Given the description of an element on the screen output the (x, y) to click on. 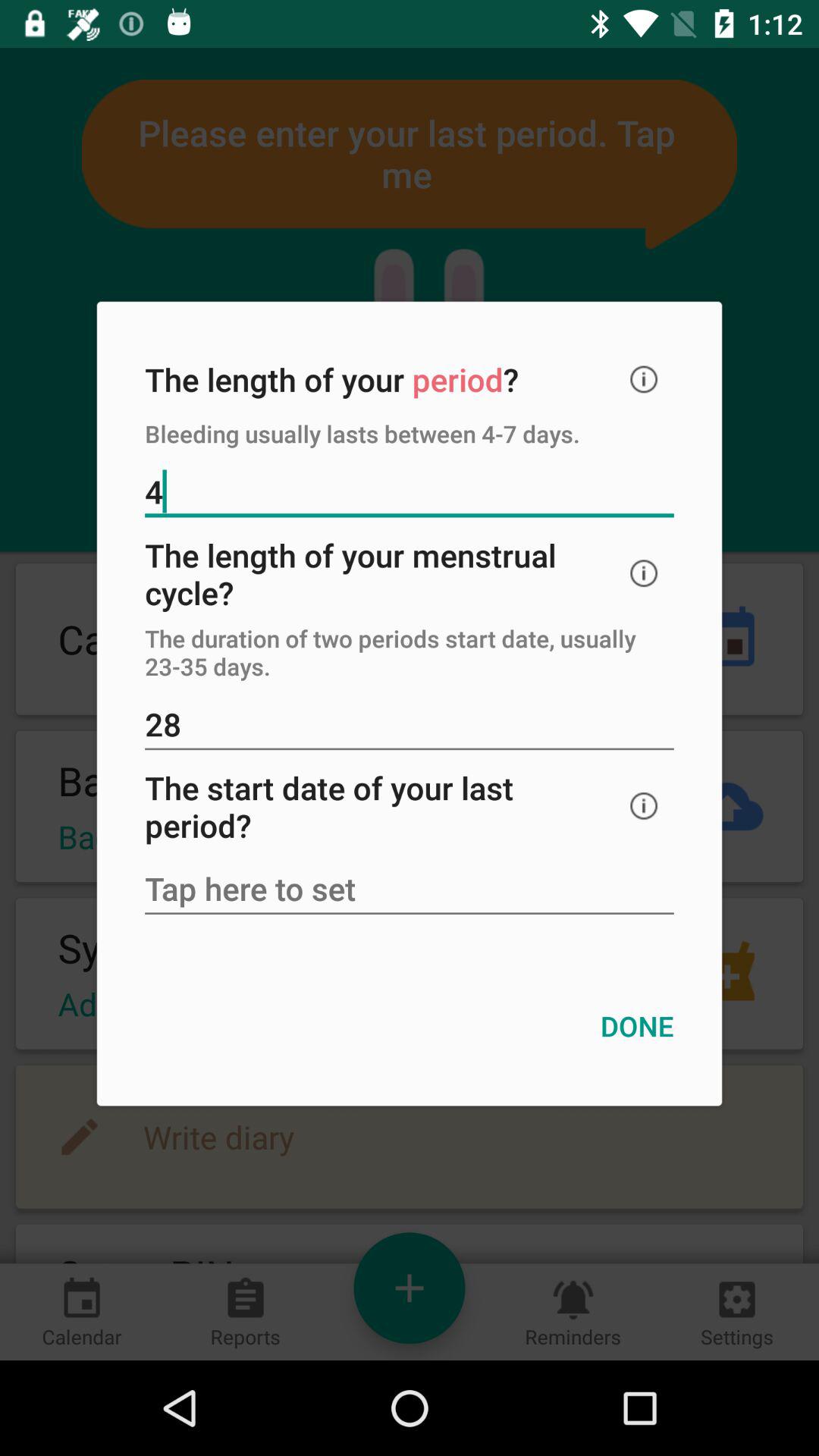
tap item above the start date (409, 726)
